Given the description of an element on the screen output the (x, y) to click on. 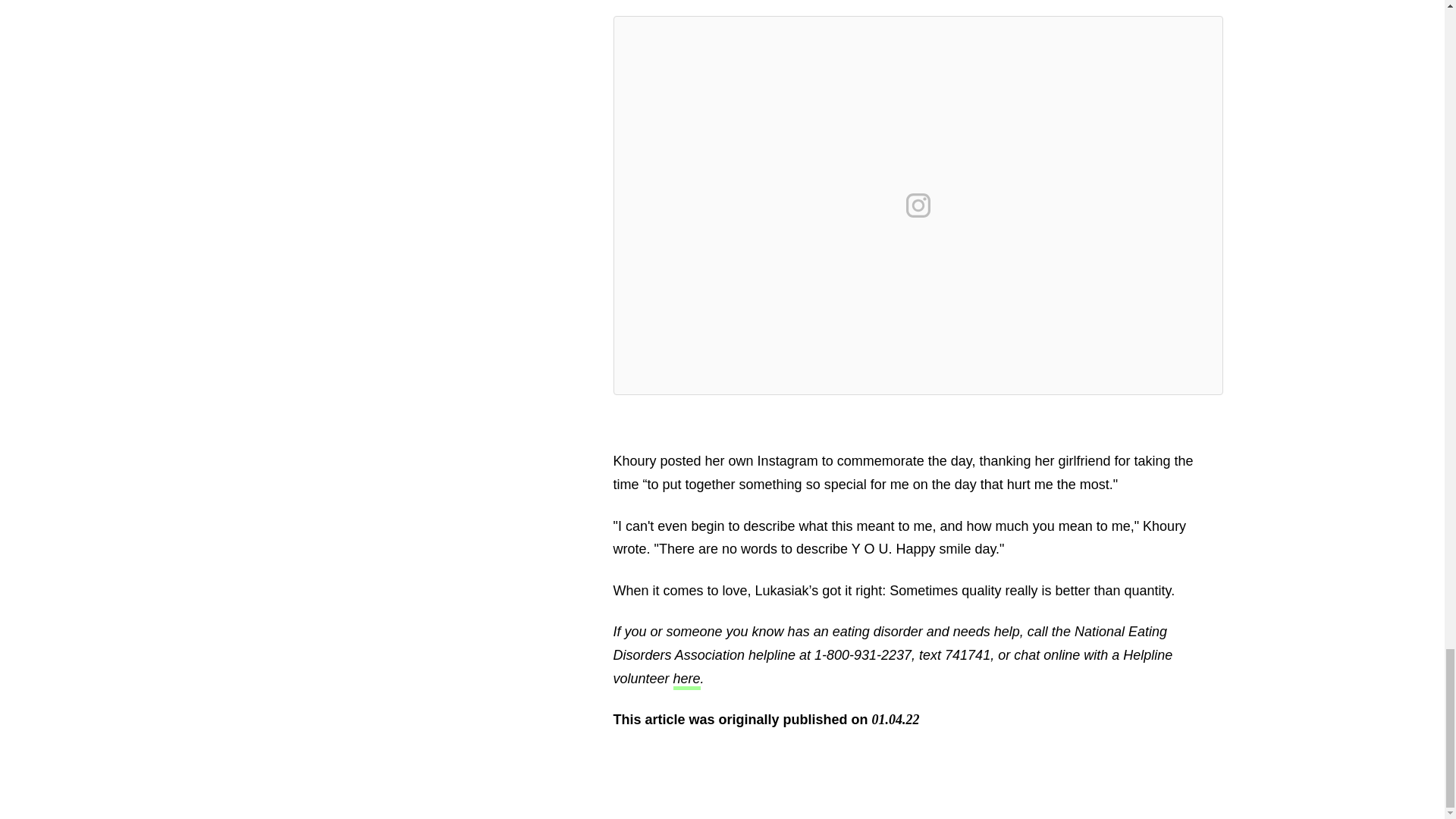
here (686, 680)
View on Instagram (917, 205)
